Given the description of an element on the screen output the (x, y) to click on. 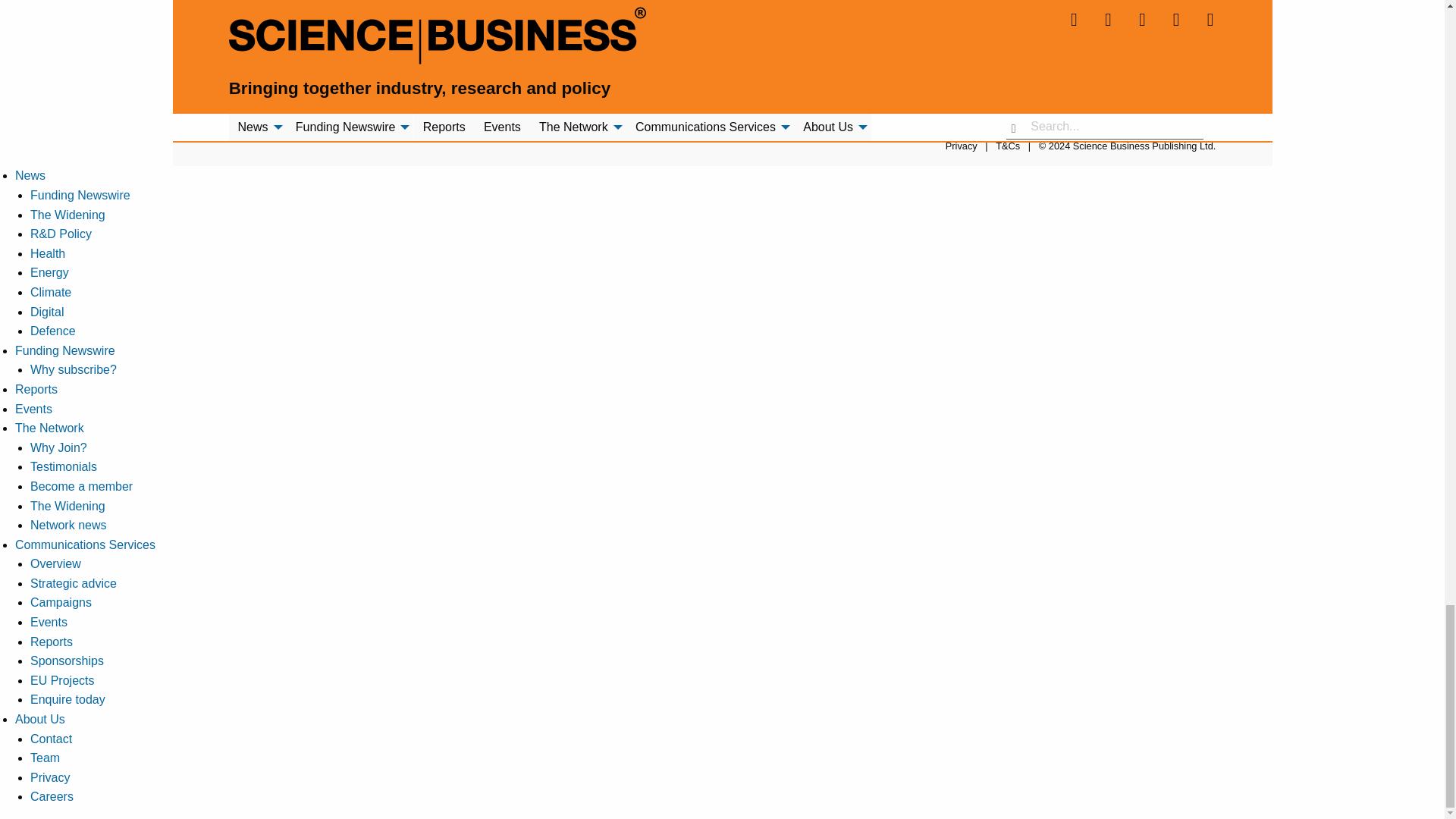
Home (1025, 84)
Subscription options (73, 369)
For the latest funding insights (64, 350)
The latest funding insights  (80, 195)
